Given the description of an element on the screen output the (x, y) to click on. 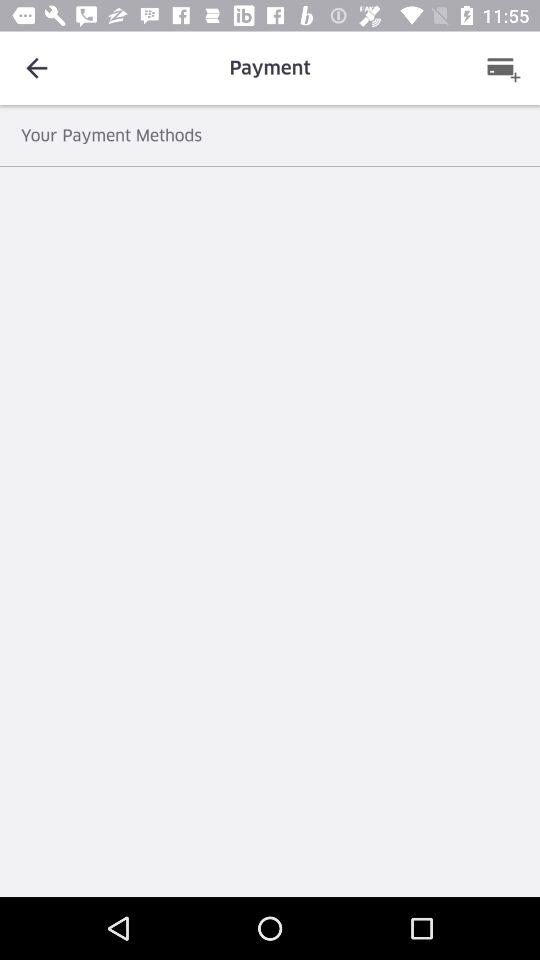
launch the icon next to the payment item (503, 67)
